Given the description of an element on the screen output the (x, y) to click on. 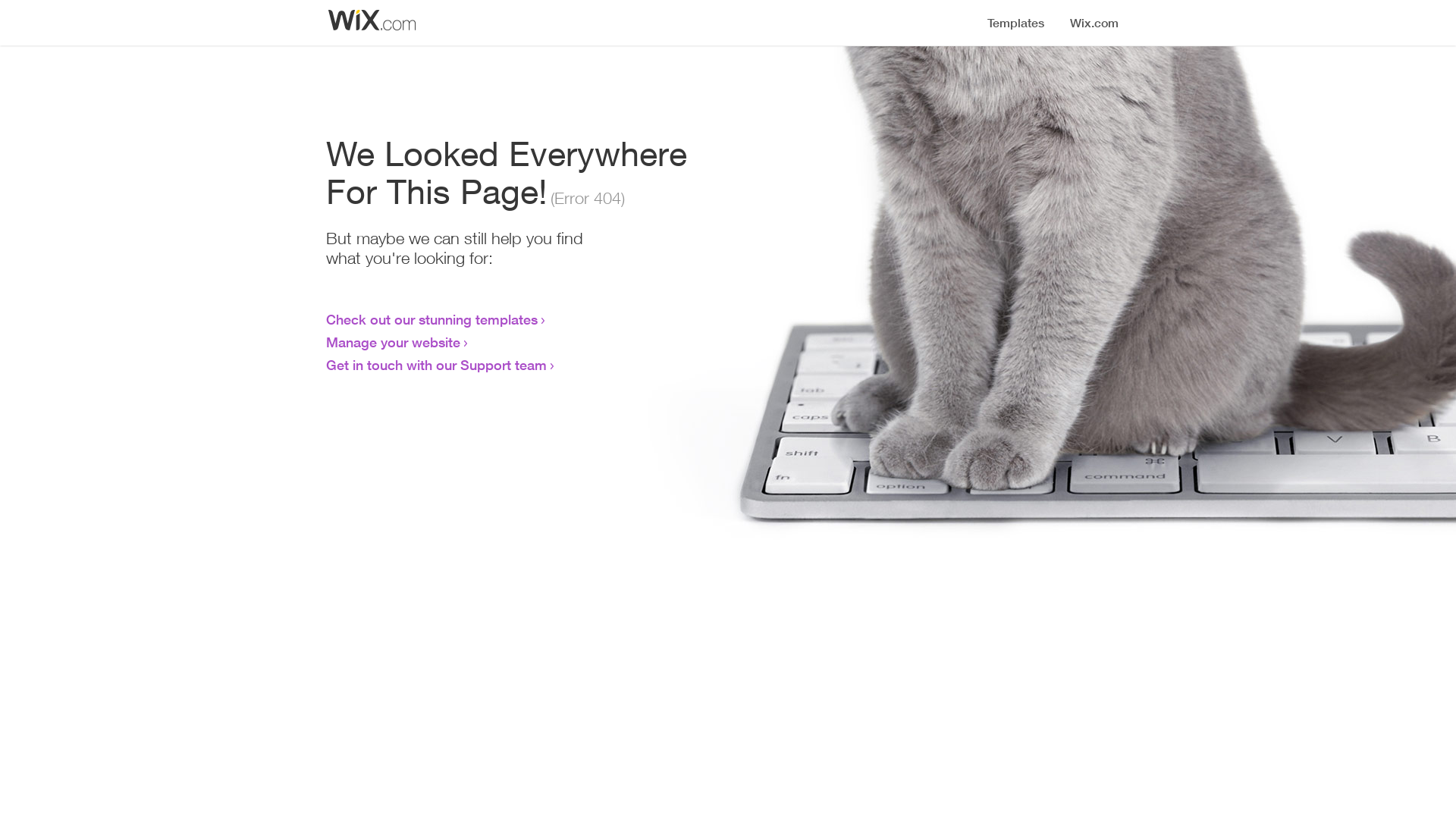
Check out our stunning templates Element type: text (431, 318)
Get in touch with our Support team Element type: text (436, 364)
Manage your website Element type: text (393, 341)
